Given the description of an element on the screen output the (x, y) to click on. 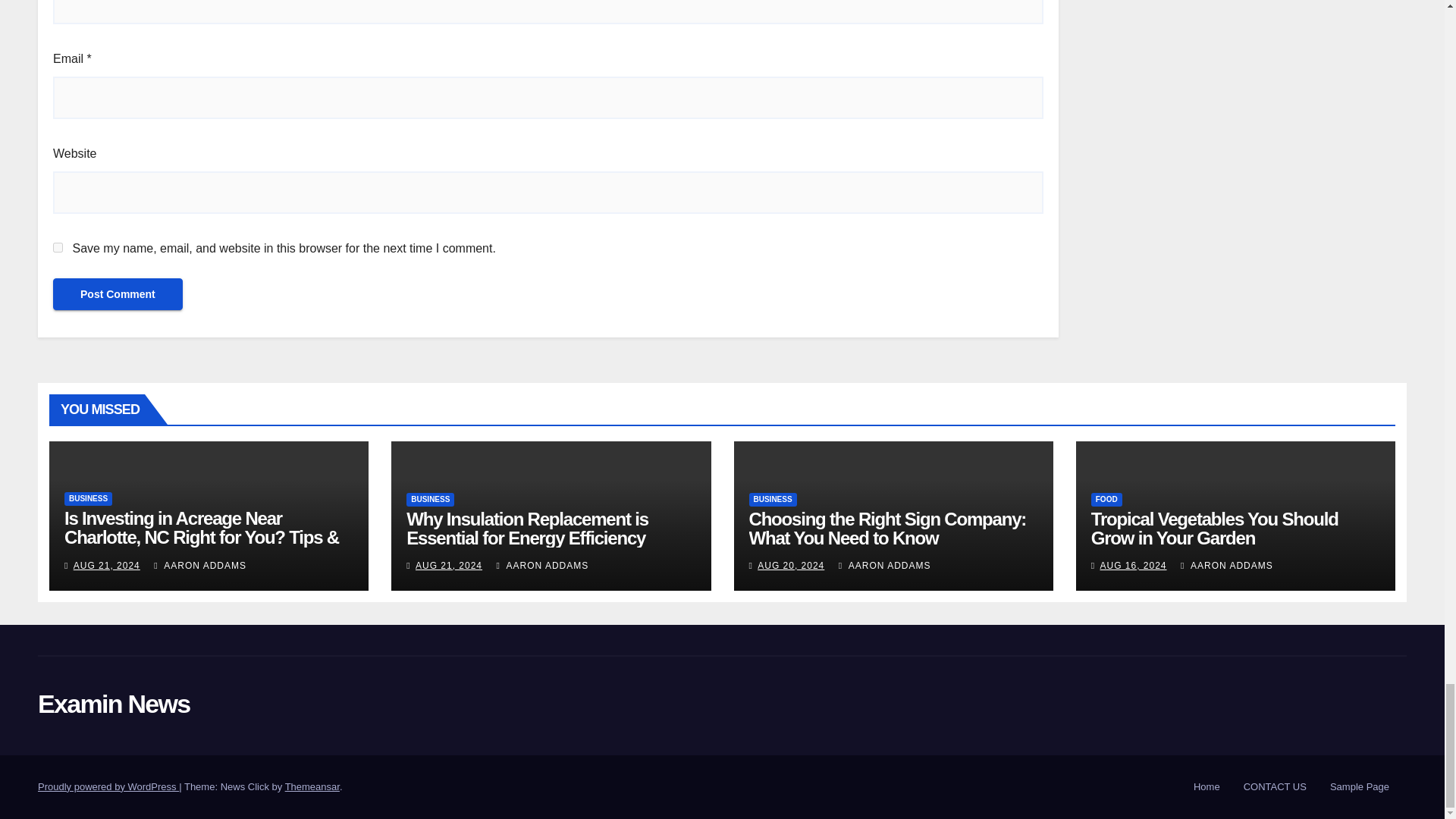
Post Comment (117, 294)
yes (57, 247)
Home (1206, 786)
